Given the description of an element on the screen output the (x, y) to click on. 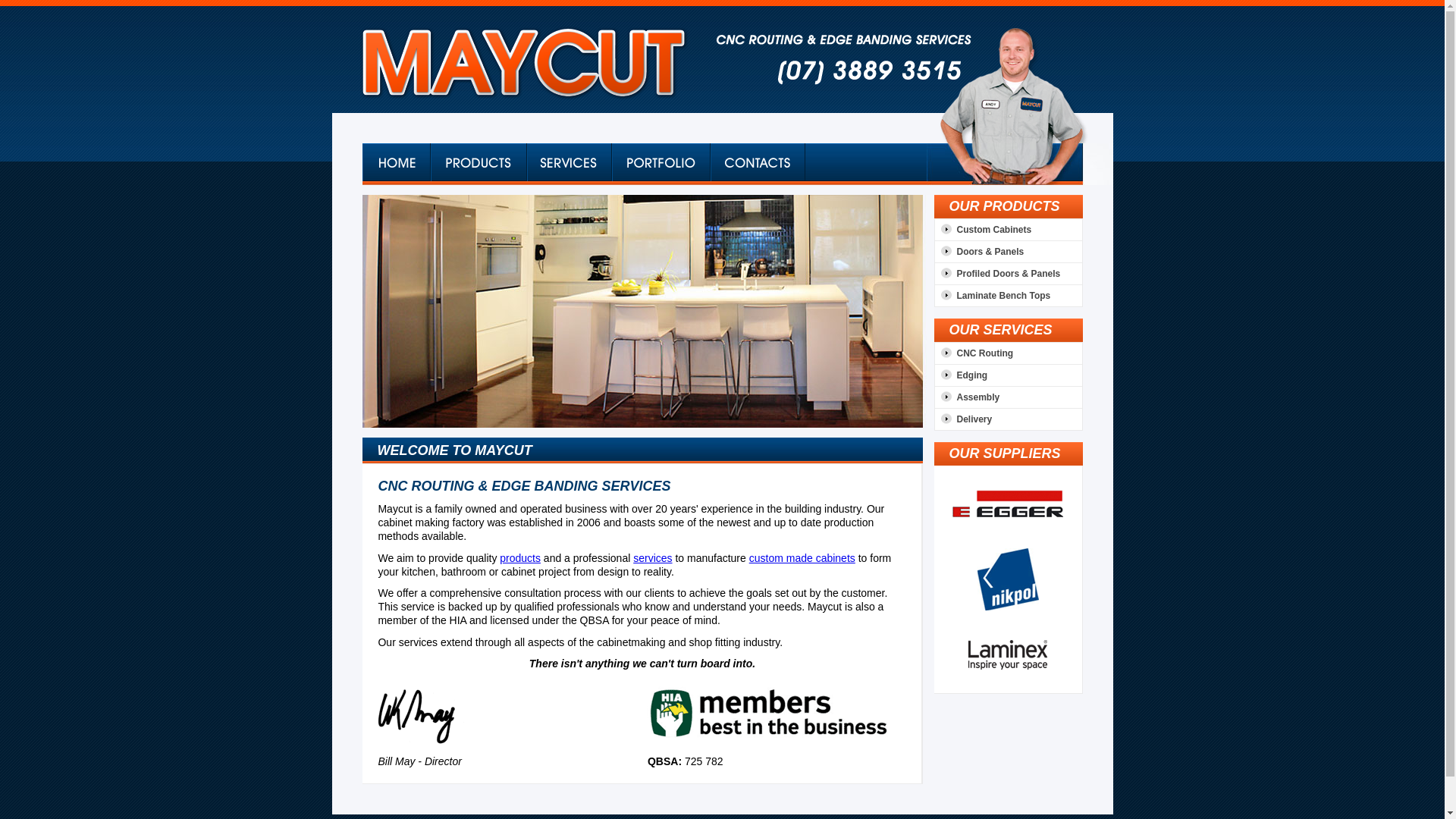
CNC Routing Element type: text (973, 352)
Doors & Panels Element type: text (979, 250)
Bill May Signature Element type: hover (421, 710)
HIA Member Element type: hover (767, 713)
Edging Element type: text (961, 375)
Delivery Element type: text (963, 419)
services Element type: text (652, 558)
products Element type: text (519, 558)
OUR SERVICES Element type: text (1000, 329)
Custom Cabinets Element type: text (983, 229)
Laminate Bench Tops Element type: text (992, 294)
OUR PRODUCTS Element type: text (1004, 205)
Profiled Doors & Panels Element type: text (997, 273)
custom made cabinets Element type: text (802, 558)
Assembly Element type: text (967, 396)
